Given the description of an element on the screen output the (x, y) to click on. 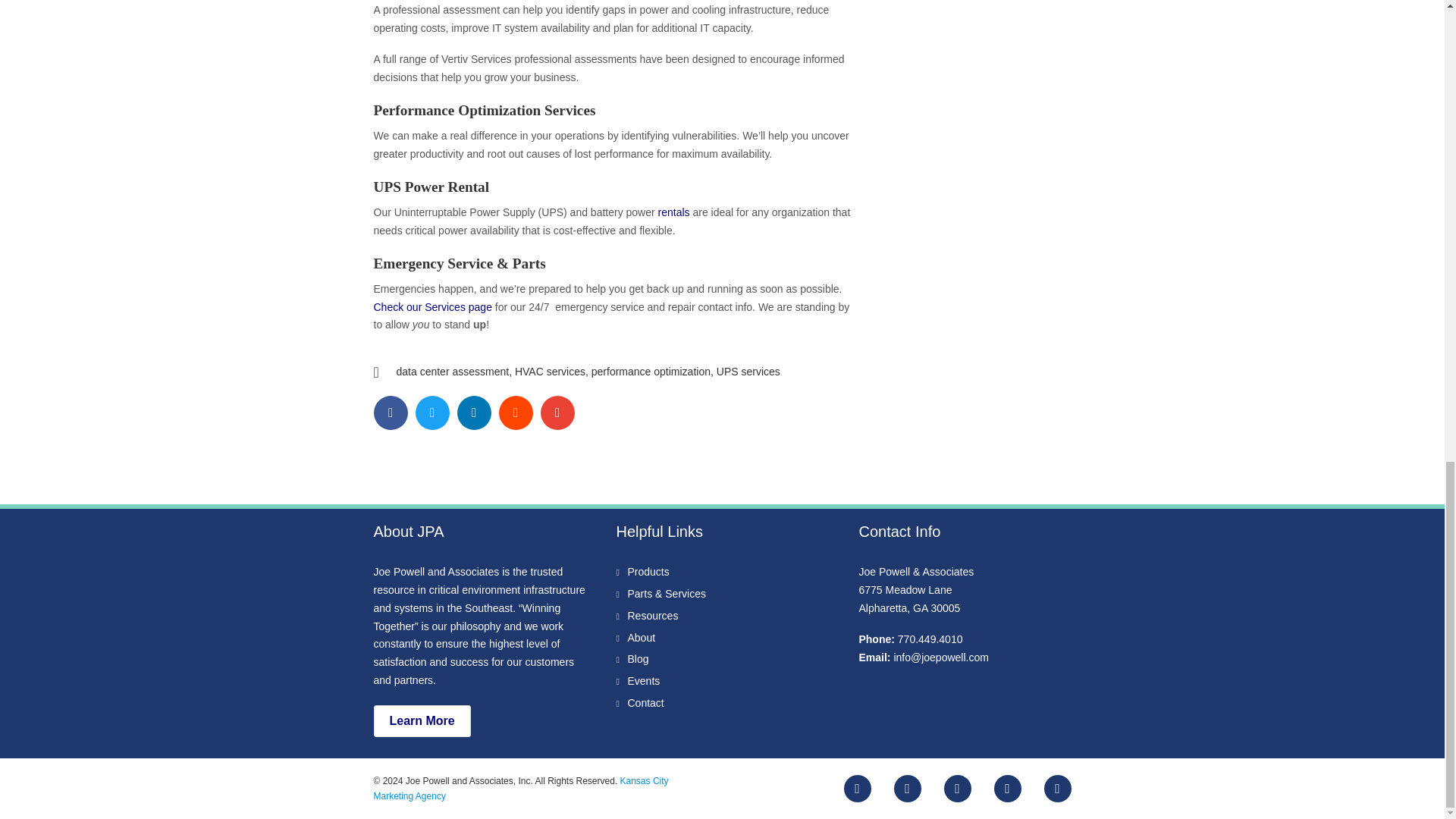
Kansas City Marketing Agency (520, 788)
